Given the description of an element on the screen output the (x, y) to click on. 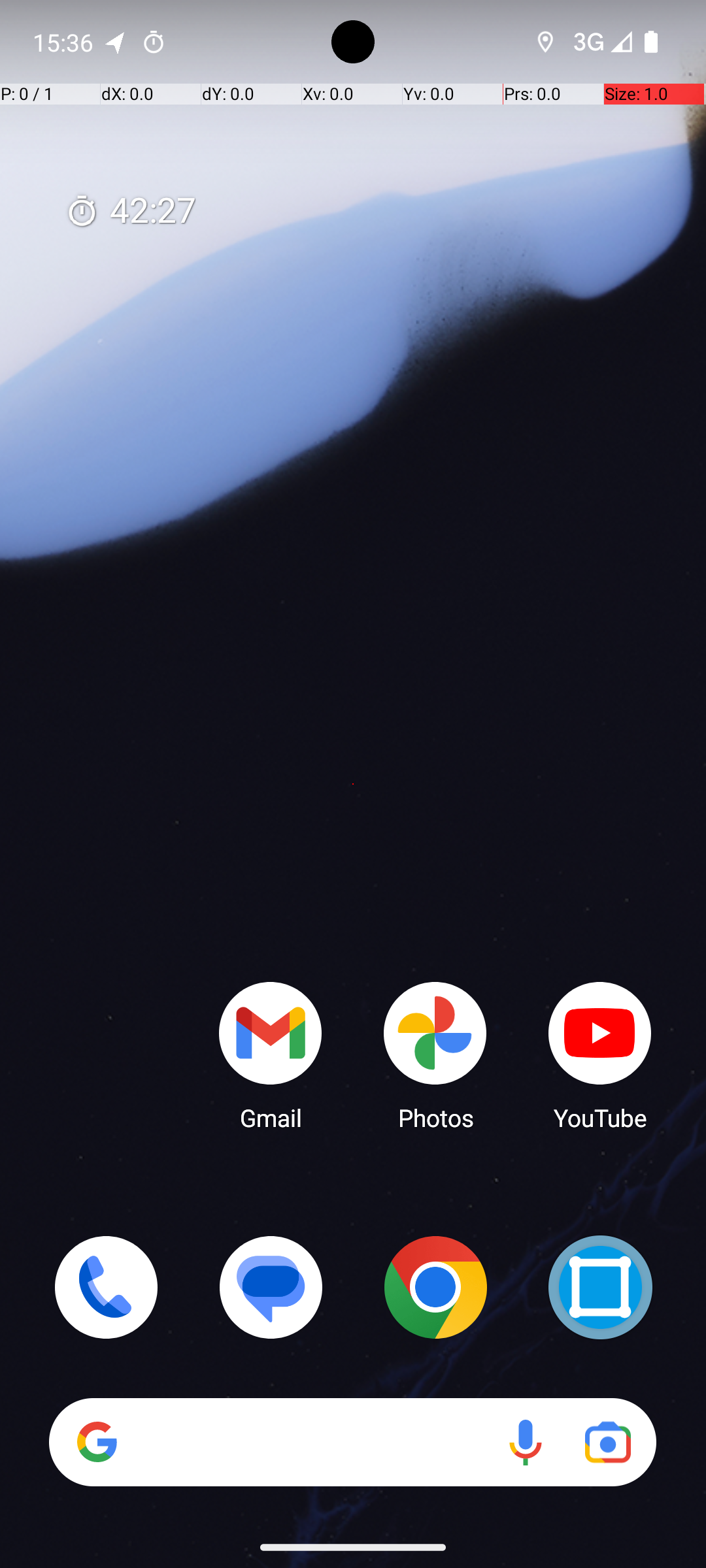
42:27 Element type: android.widget.TextView (130, 210)
